Given the description of an element on the screen output the (x, y) to click on. 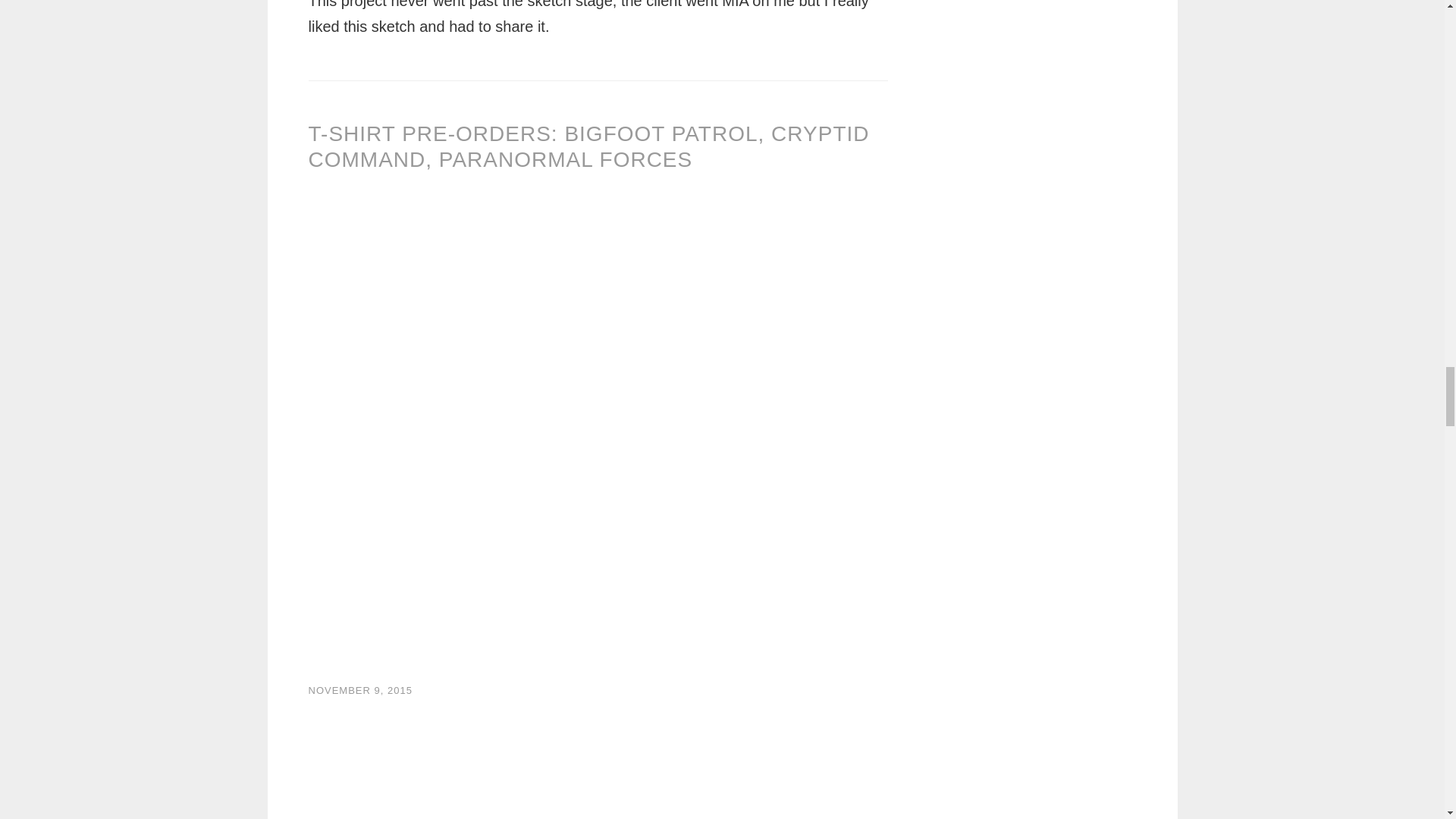
NOVEMBER 9, 2015 (359, 690)
